Given the description of an element on the screen output the (x, y) to click on. 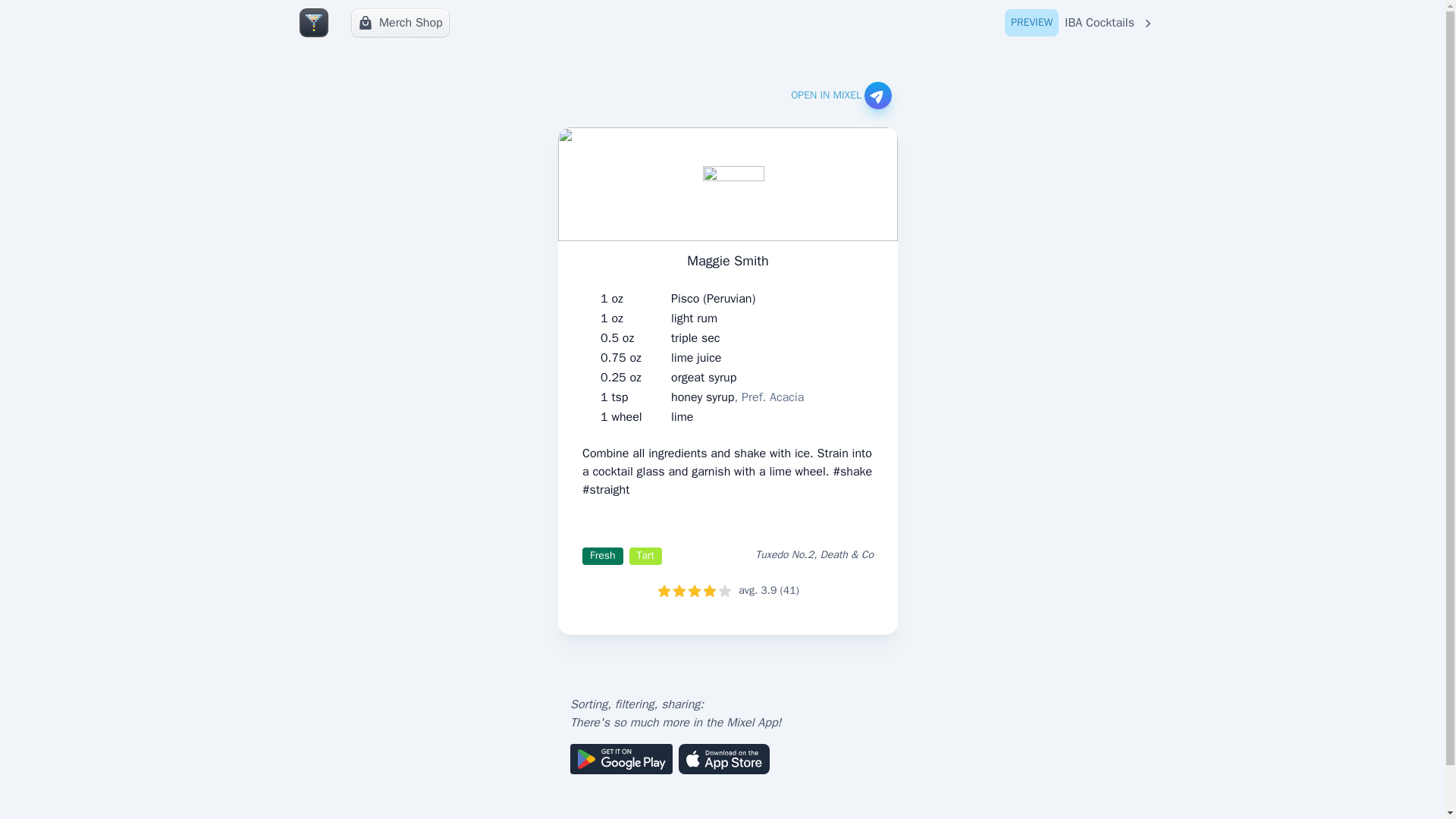
lime juice (695, 357)
OPEN IN MIXEL (840, 94)
light rum (1079, 22)
lime (694, 318)
orgeat syrup (682, 416)
Merch Shop (703, 377)
triple sec (400, 22)
honey syrup, Pref. Acacia (695, 338)
